Given the description of an element on the screen output the (x, y) to click on. 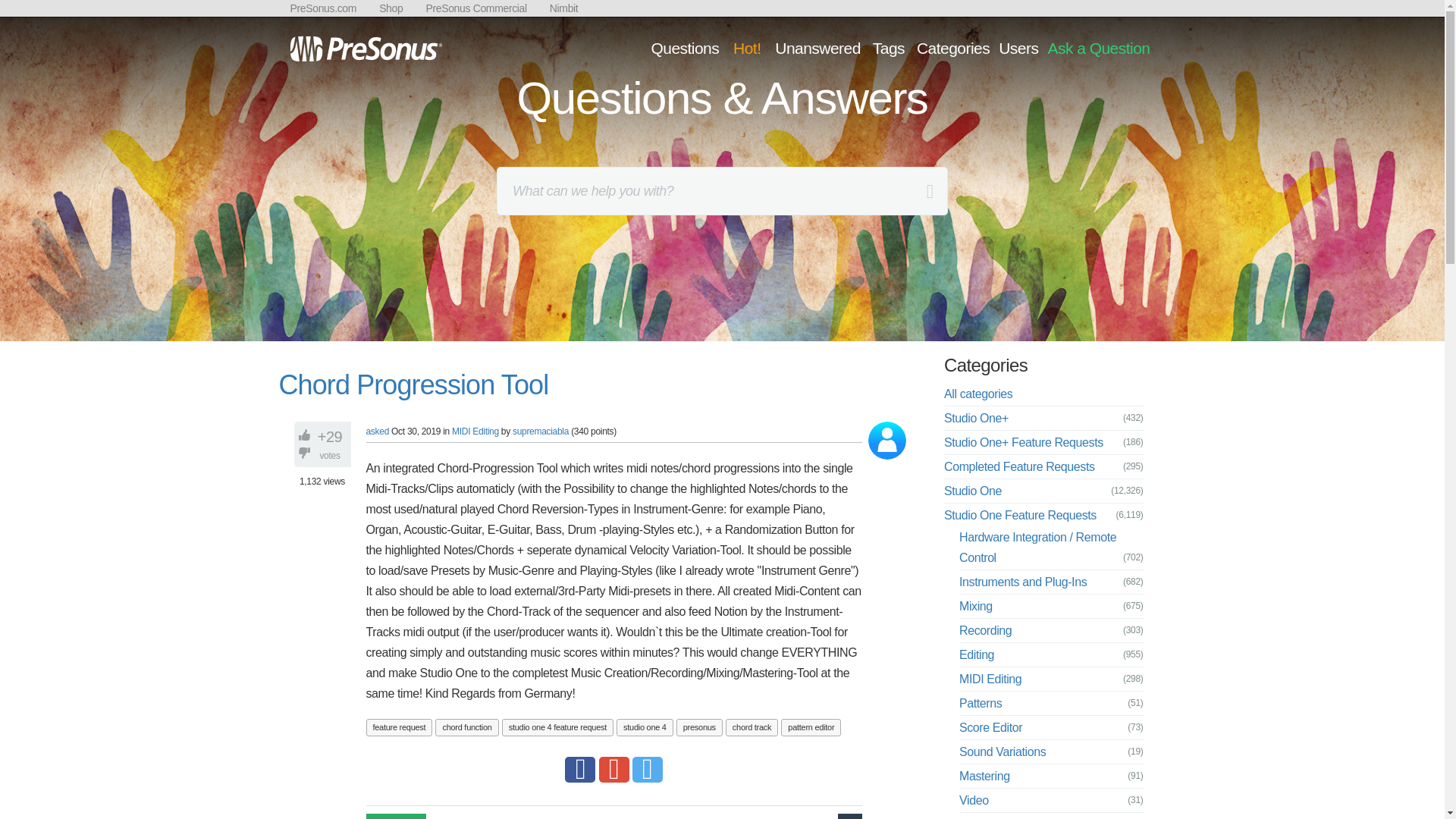
Click to vote down (306, 452)
answer (395, 816)
pattern editor (810, 727)
Click to vote up (306, 436)
Chord Progression Tool (413, 384)
Categories (952, 46)
PreSonus.com (322, 8)
MIDI Editing (475, 430)
Users (1018, 46)
Nimbit (564, 8)
Shop (390, 8)
studio one 4 (643, 727)
Tags (888, 46)
flag (849, 816)
Hot! (746, 46)
